Given the description of an element on the screen output the (x, y) to click on. 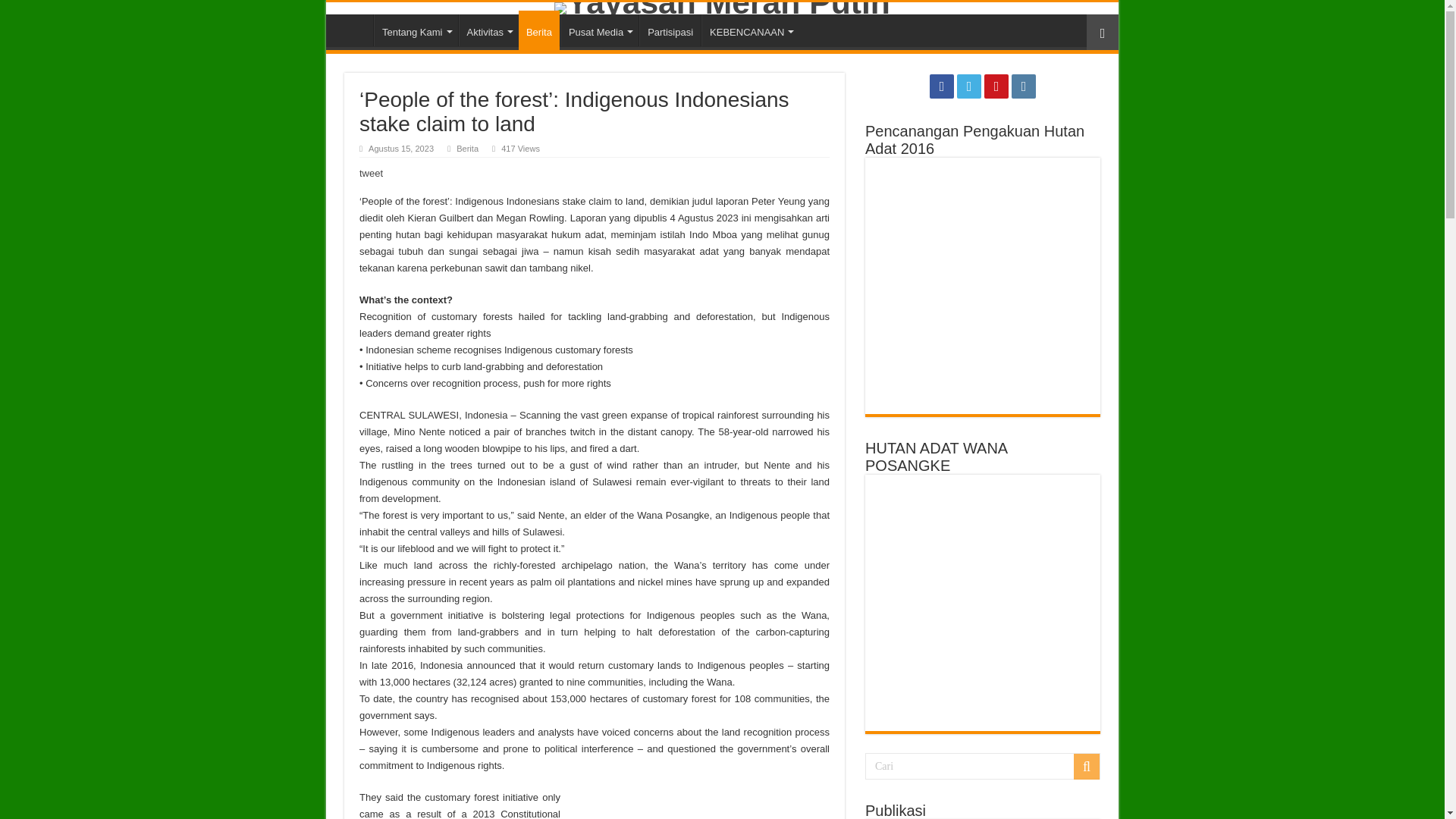
Facebook (941, 86)
Pusat Media (599, 29)
Cari (982, 765)
Aktivitas (488, 29)
Halaman Depan (352, 29)
Yayasan Merah Putih (722, 8)
Random Article (1102, 31)
Twitter (968, 86)
Youtube (996, 86)
Tentang Kami (416, 29)
Berita (538, 29)
instagram (1023, 86)
